Given the description of an element on the screen output the (x, y) to click on. 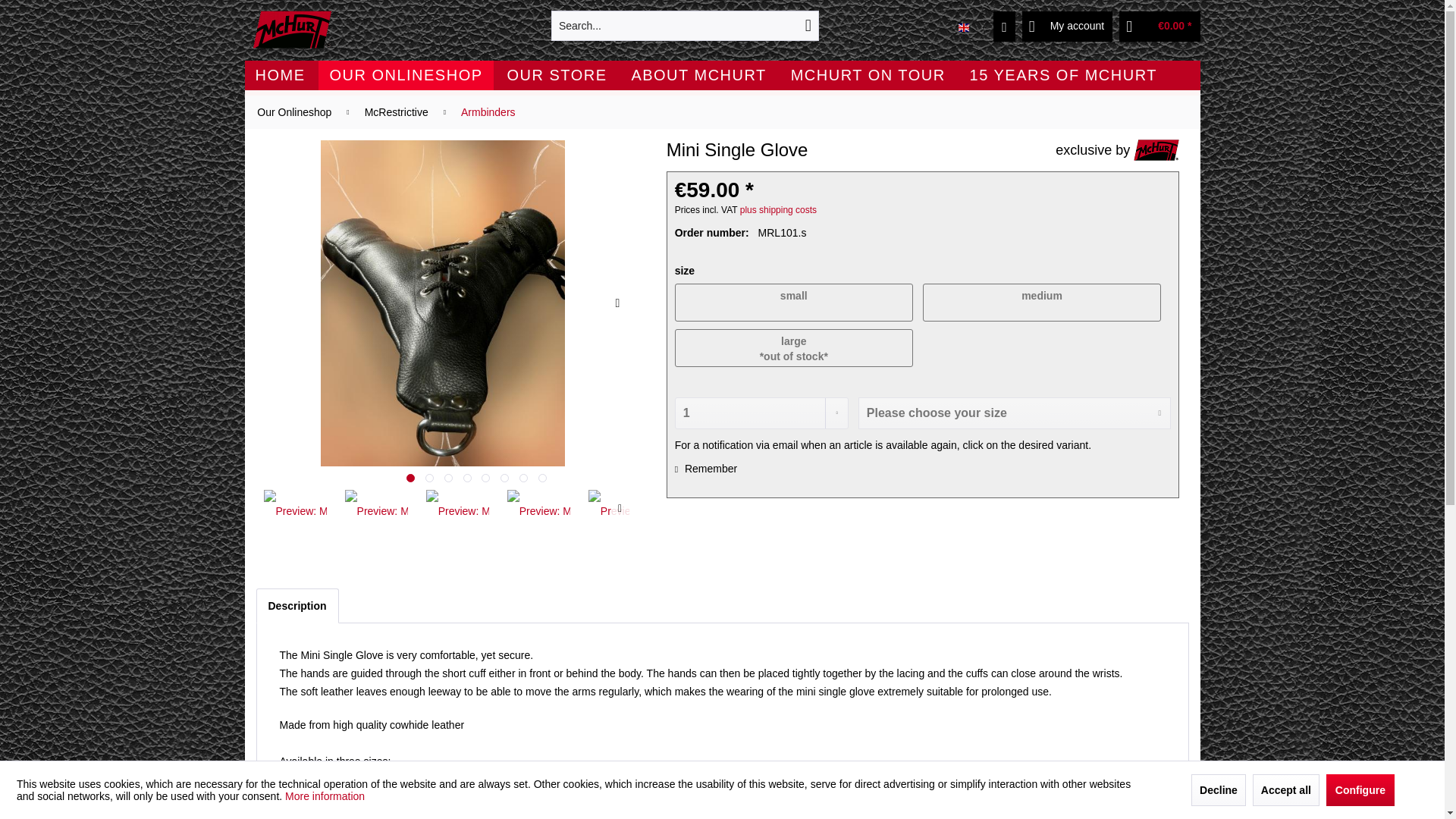
15 YEARS OF MCHURT (1063, 75)
OUR STORE (556, 75)
Wish list (1003, 26)
MCHURT ON TOUR (868, 75)
 About McHurt (698, 75)
Our Store (556, 75)
BDSM - Shop McHurt - Switch to homepage (291, 29)
15 years of McHurt (1063, 75)
OUR STORE (556, 75)
Our Onlineshop (405, 75)
ABOUT MCHURT (698, 75)
My account (1067, 26)
15 YEARS OF MCHURT (1063, 75)
Shopping cart (1159, 26)
MCHURT ON TOUR (868, 75)
